Given the description of an element on the screen output the (x, y) to click on. 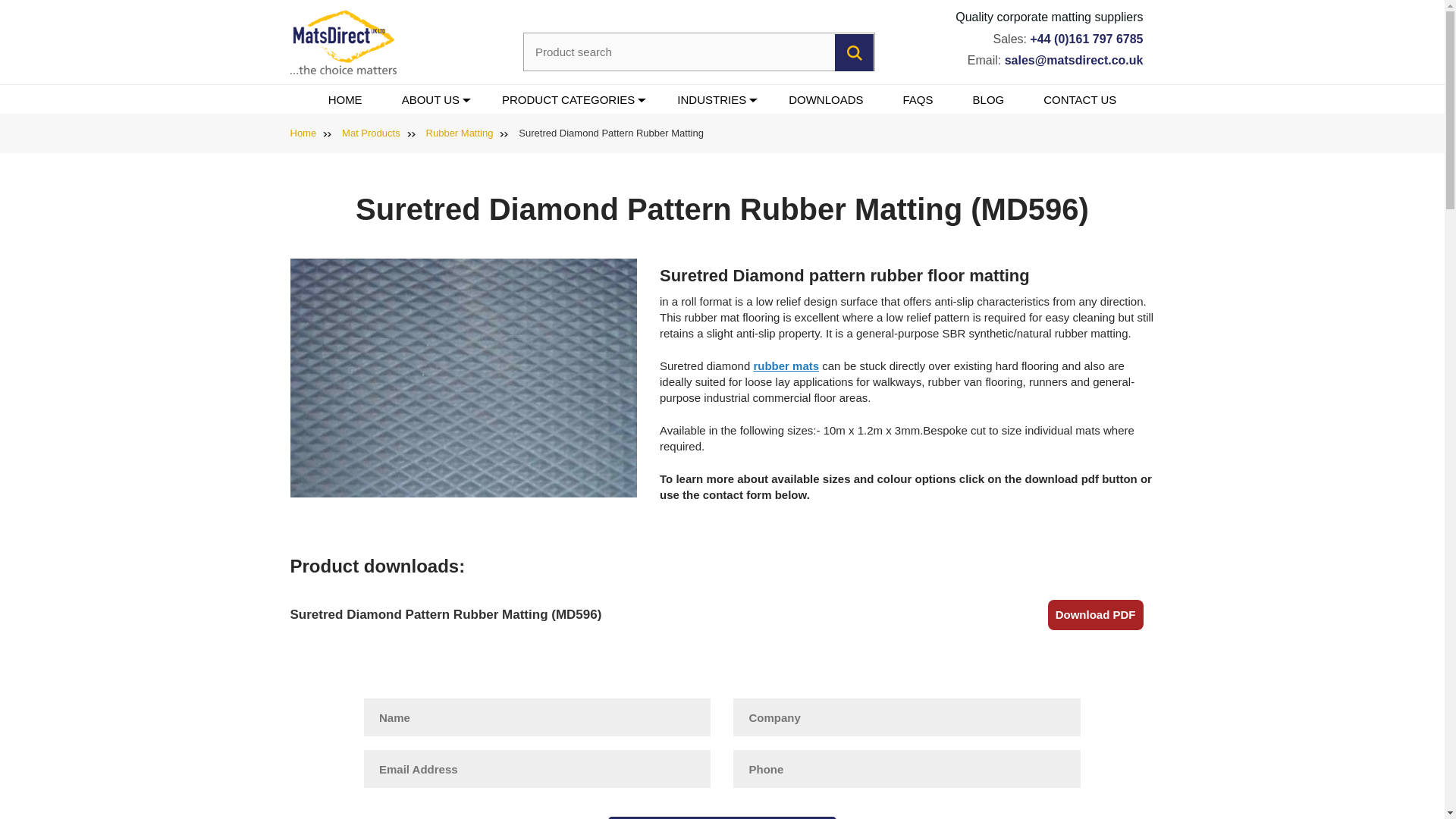
DOWNLOADS (825, 100)
Rubber Matting (459, 132)
ABOUT US (432, 100)
Download PDF (1095, 614)
INDUSTRIES (713, 100)
rubber mats (785, 365)
Home (302, 132)
Mat Products (371, 132)
HOME (344, 100)
FAQS (917, 100)
BLOG (988, 100)
CONTACT US (1079, 100)
PRODUCT CATEGORIES (569, 100)
